Given the description of an element on the screen output the (x, y) to click on. 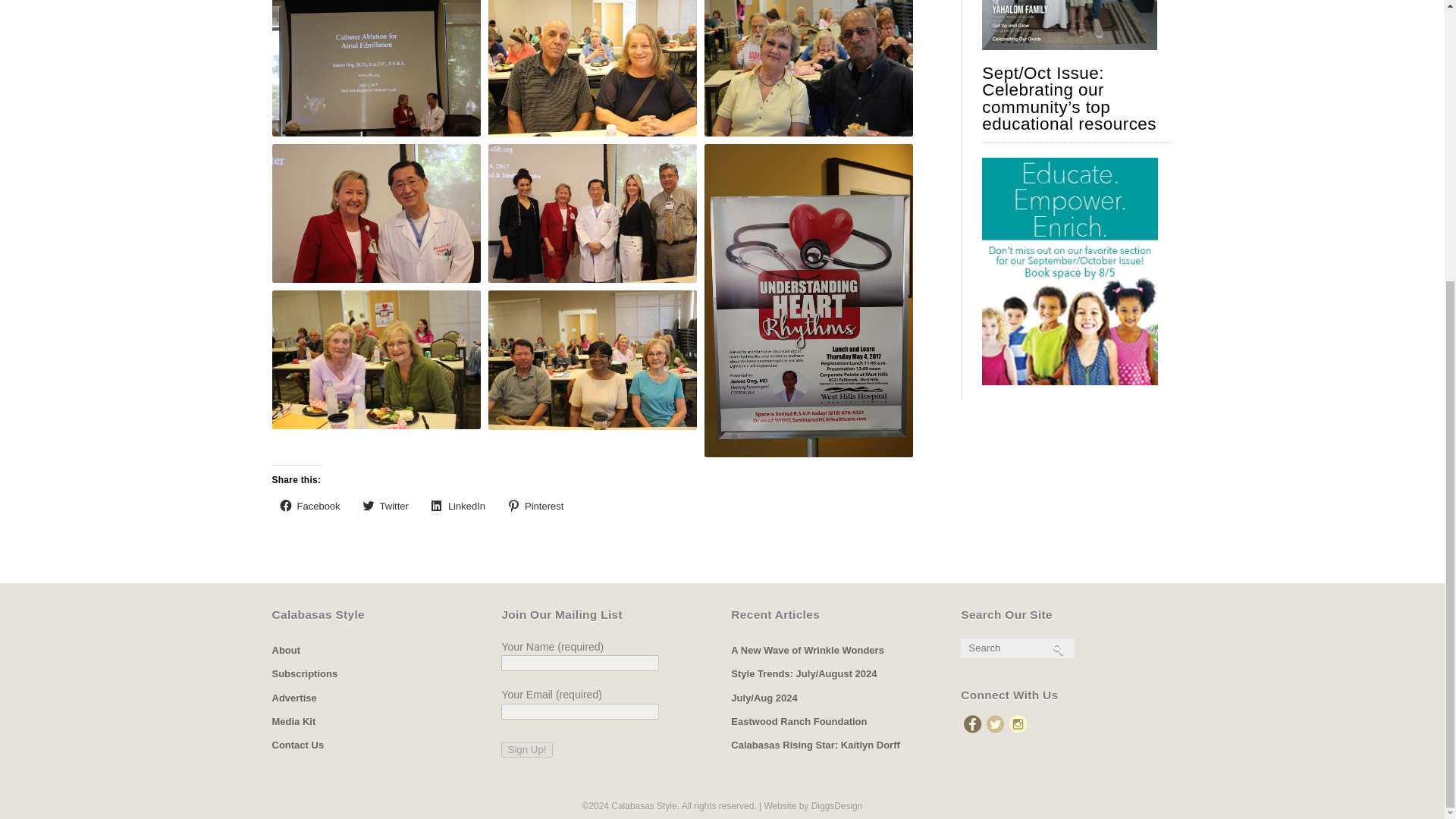
LinkedIn (458, 505)
Sign Up! (525, 749)
Facebook (308, 505)
Pinterest (535, 505)
Twitter (385, 505)
Search (1015, 647)
About (284, 650)
